Given the description of an element on the screen output the (x, y) to click on. 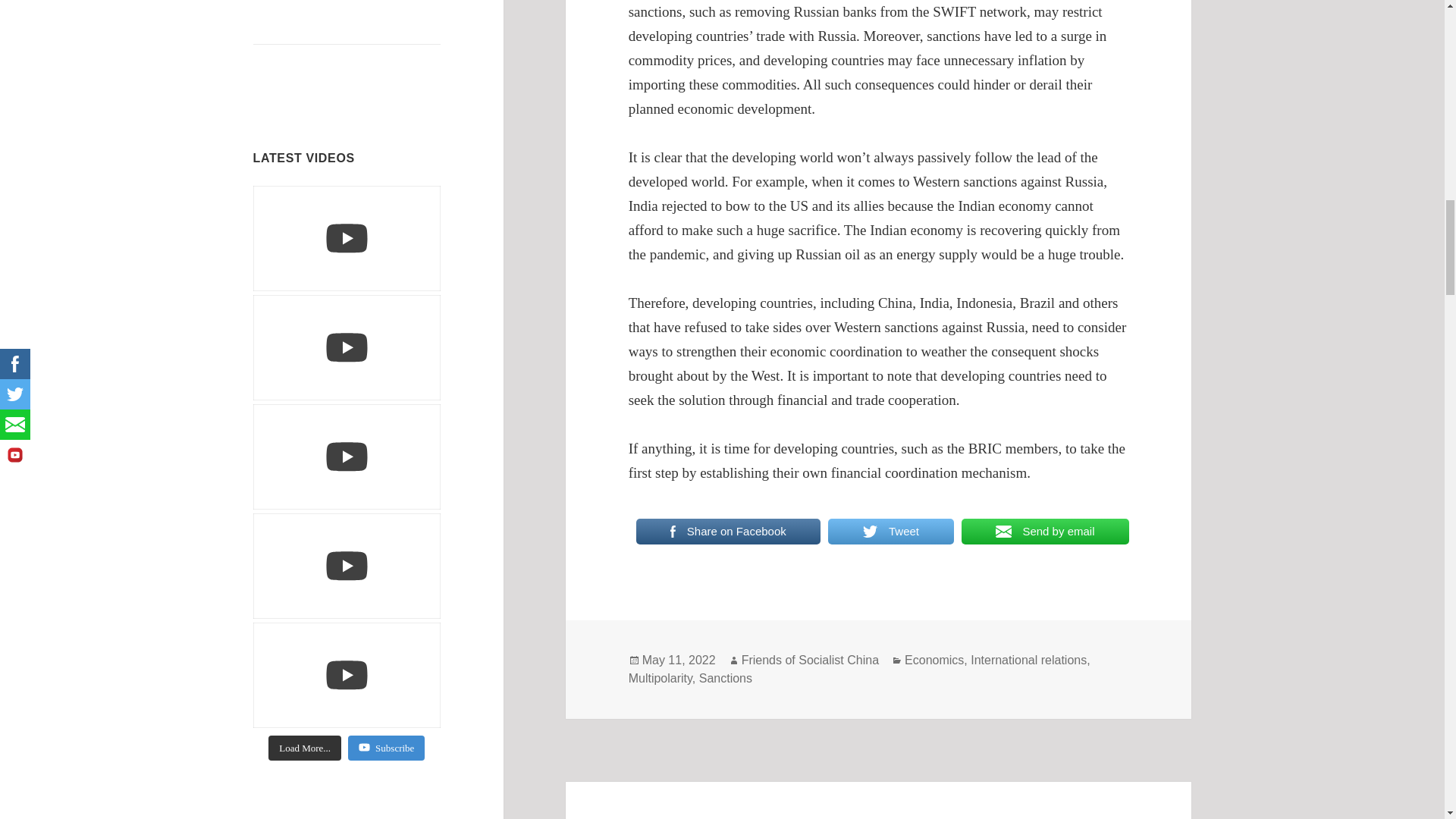
Load More... (303, 748)
Subscribe (386, 748)
The Xinjiang I saw was a hub of diversity, not oppression (331, 19)
Threat of war looms over NATO summit in Washington (332, 67)
